Given the description of an element on the screen output the (x, y) to click on. 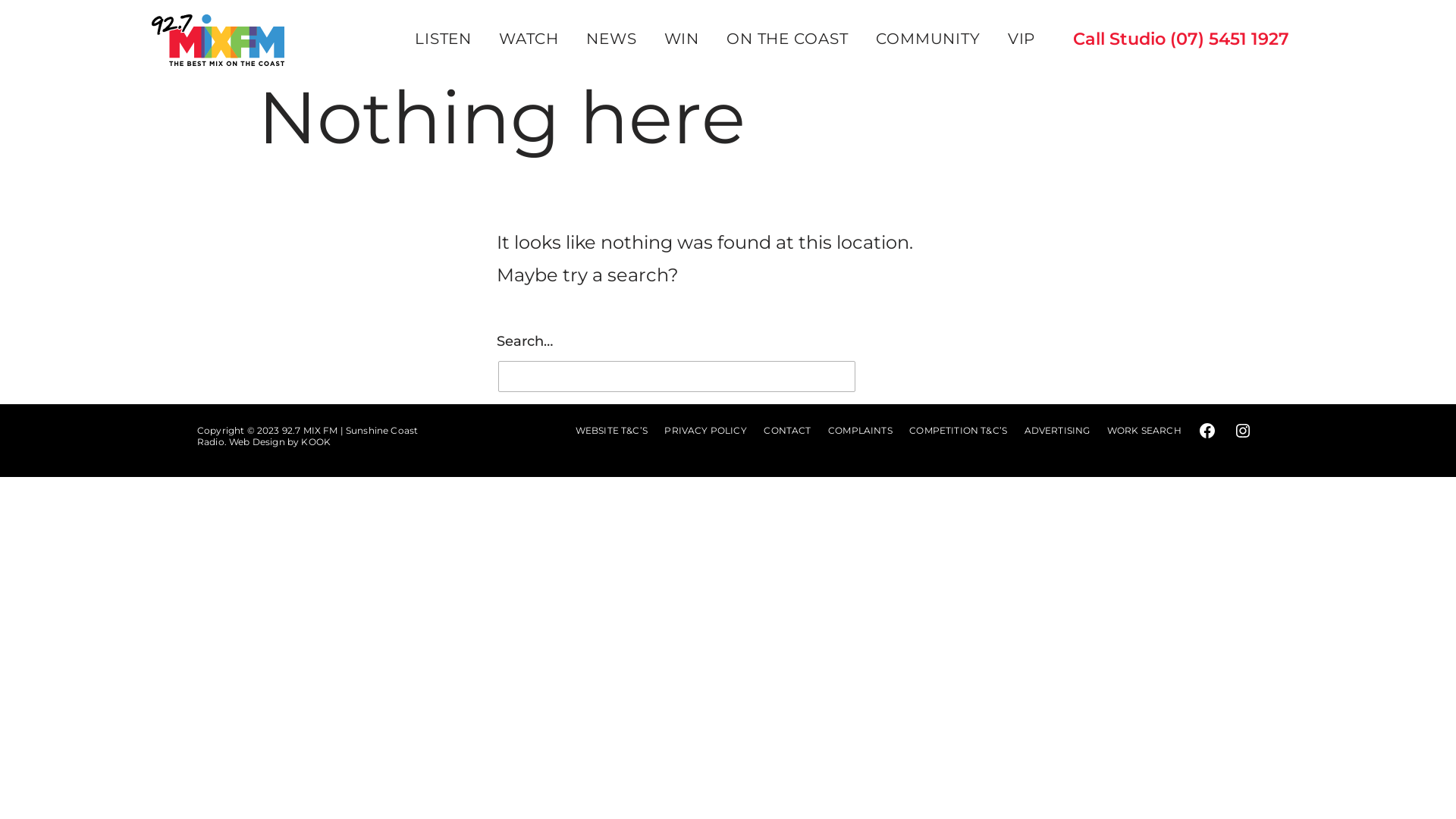
Connect with us on Instagram Element type: hover (1242, 430)
ADVERTISING Element type: text (1057, 430)
WIN Element type: text (681, 38)
Call Studio (07) 5451 1927 Element type: text (1175, 40)
NEWS Element type: text (611, 38)
COMMUNITY Element type: text (927, 38)
LISTEN Element type: text (442, 38)
PRIVACY POLICY Element type: text (705, 430)
WORK SEARCH Element type: text (1144, 430)
CONTACT Element type: text (786, 430)
Connect with us on Facebook Element type: hover (1207, 430)
VIP Element type: text (1021, 38)
Search Element type: text (917, 381)
92.7 MIX FM | Sunshine Coast Radio Element type: text (307, 435)
WATCH Element type: text (528, 38)
ON THE COAST Element type: text (786, 38)
KOOK Element type: text (315, 441)
COMPLAINTS Element type: text (860, 430)
